Given the description of an element on the screen output the (x, y) to click on. 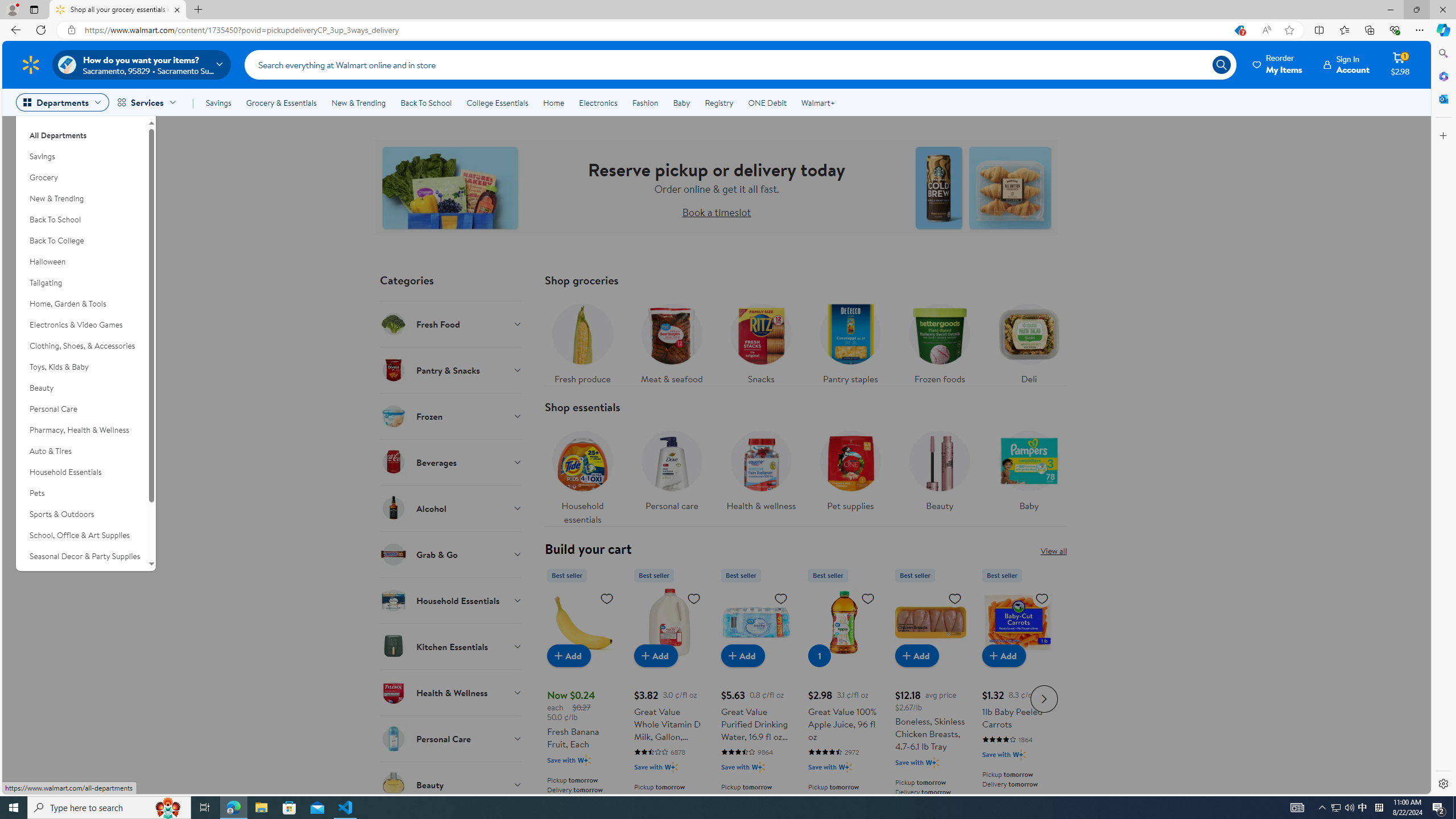
Frozen foods (938, 340)
1lb Baby Peeled Carrots (1017, 621)
Alcohol (451, 507)
Halloween (81, 261)
Baby (1028, 467)
Search icon (1220, 64)
Pets (81, 493)
Clothing, Shoes, & Accessories (81, 345)
Tailgating (81, 282)
Beverages (451, 461)
Electronics (598, 102)
Household essentials (582, 473)
